Given the description of an element on the screen output the (x, y) to click on. 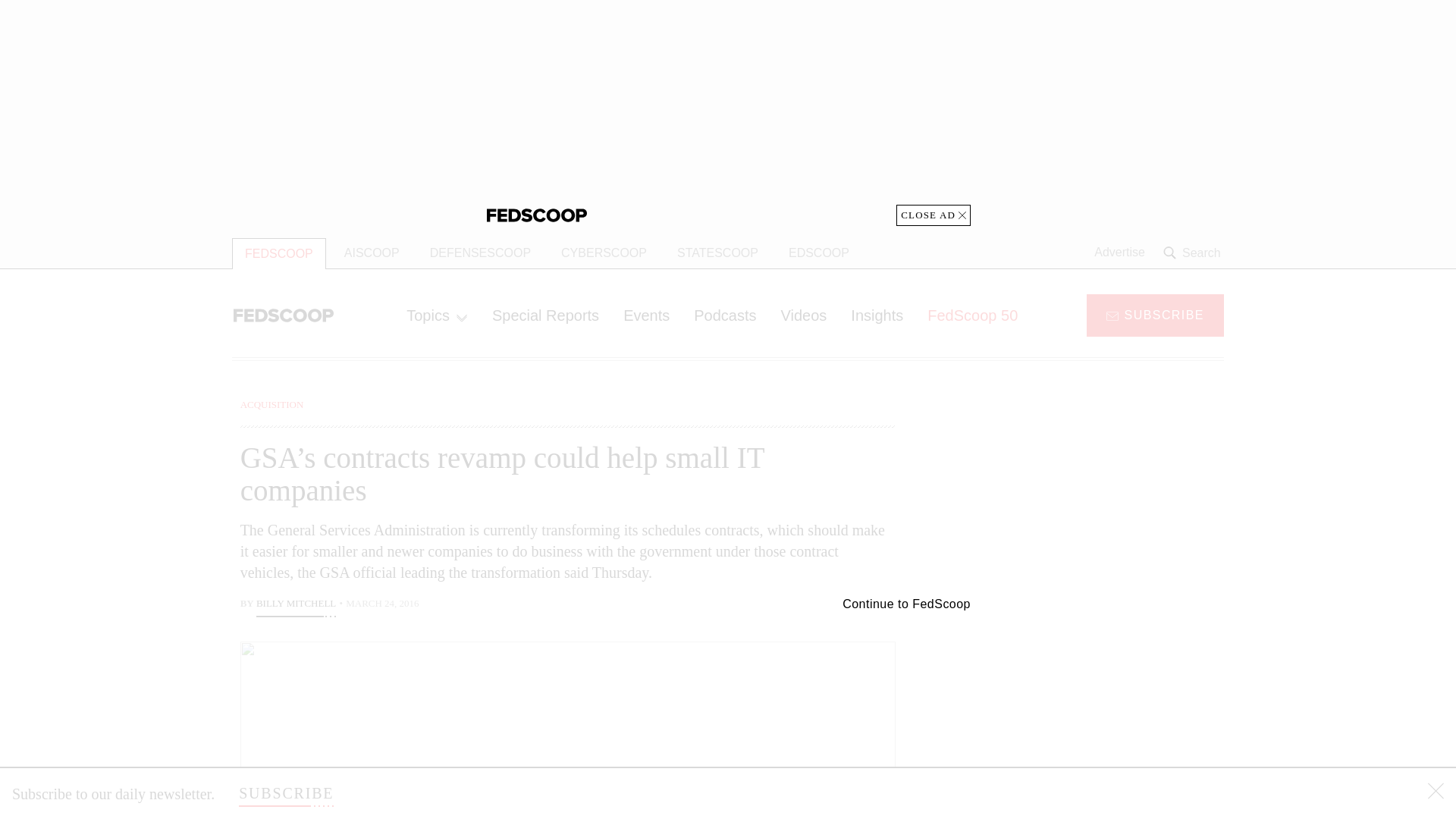
FEDSCOOP (278, 253)
3rd party ad content (1101, 705)
FedScoop 50 (972, 315)
Special Reports (545, 315)
Podcasts (724, 315)
AISCOOP (371, 253)
Billy Mitchell (296, 604)
Advertise (1119, 252)
EDSCOOP (818, 253)
